Given the description of an element on the screen output the (x, y) to click on. 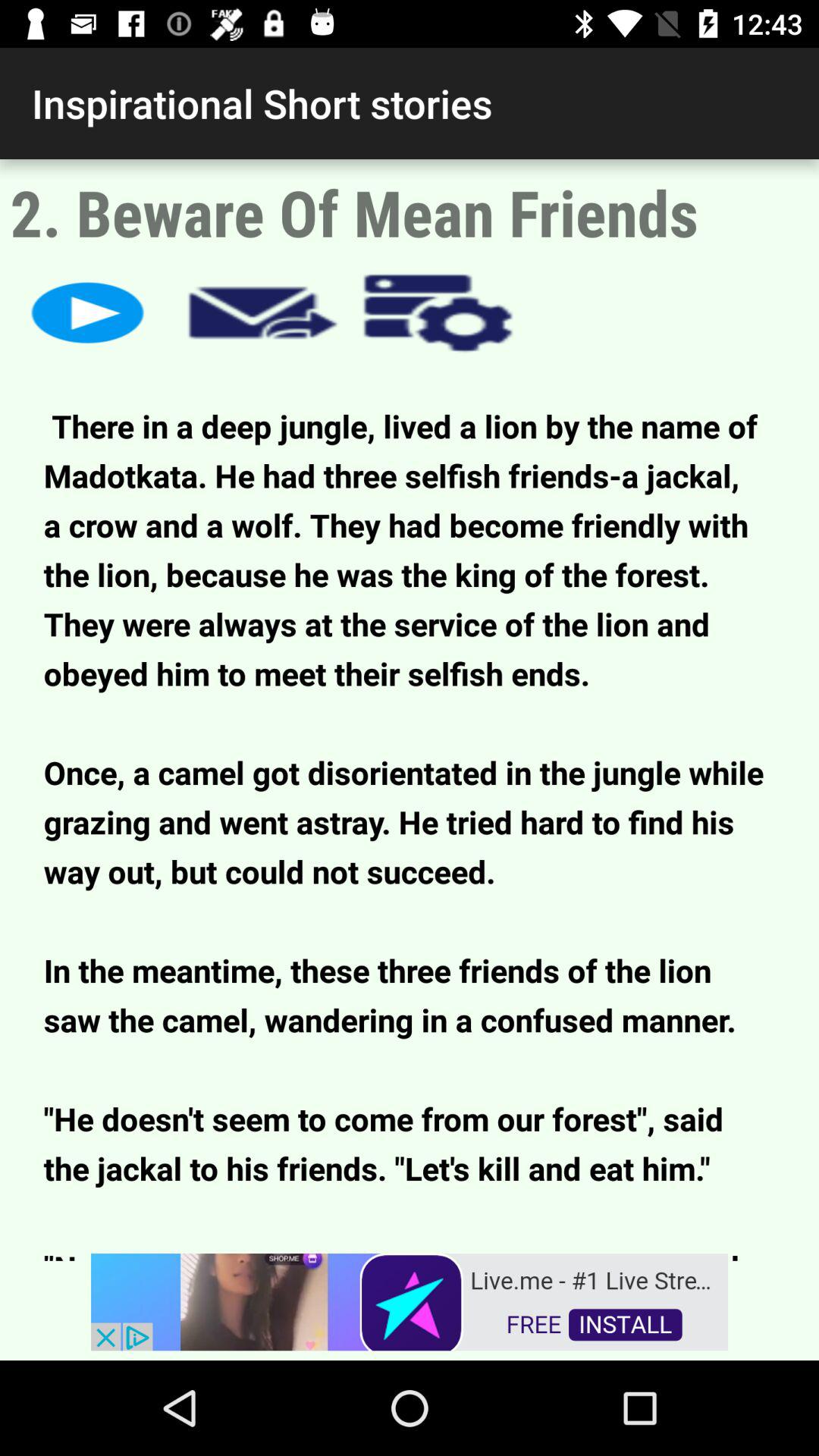
share with friends or send a message (262, 312)
